Given the description of an element on the screen output the (x, y) to click on. 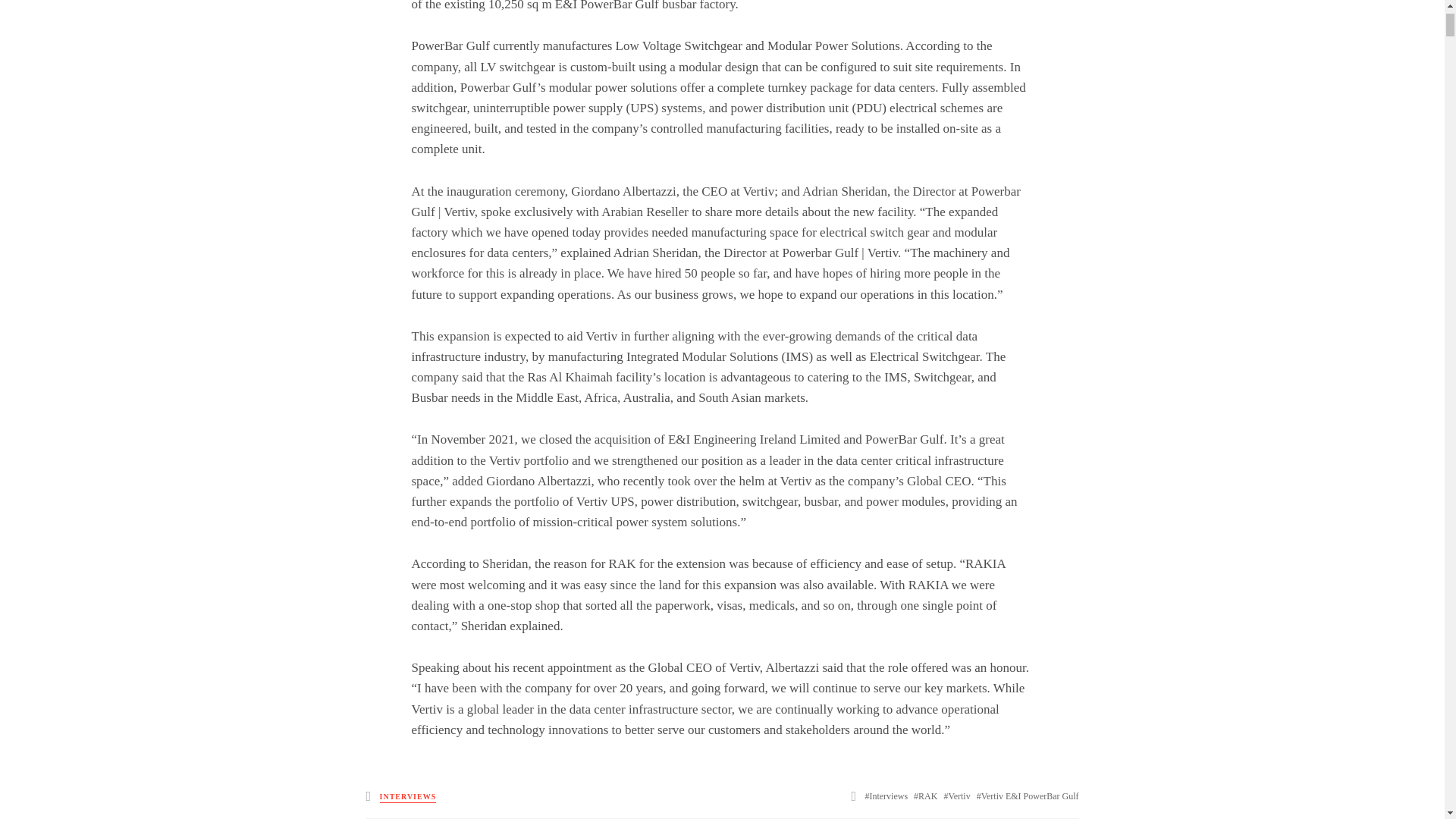
INTERVIEWS (408, 797)
Vertiv (956, 796)
RAK (925, 796)
Interviews (885, 796)
